Given the description of an element on the screen output the (x, y) to click on. 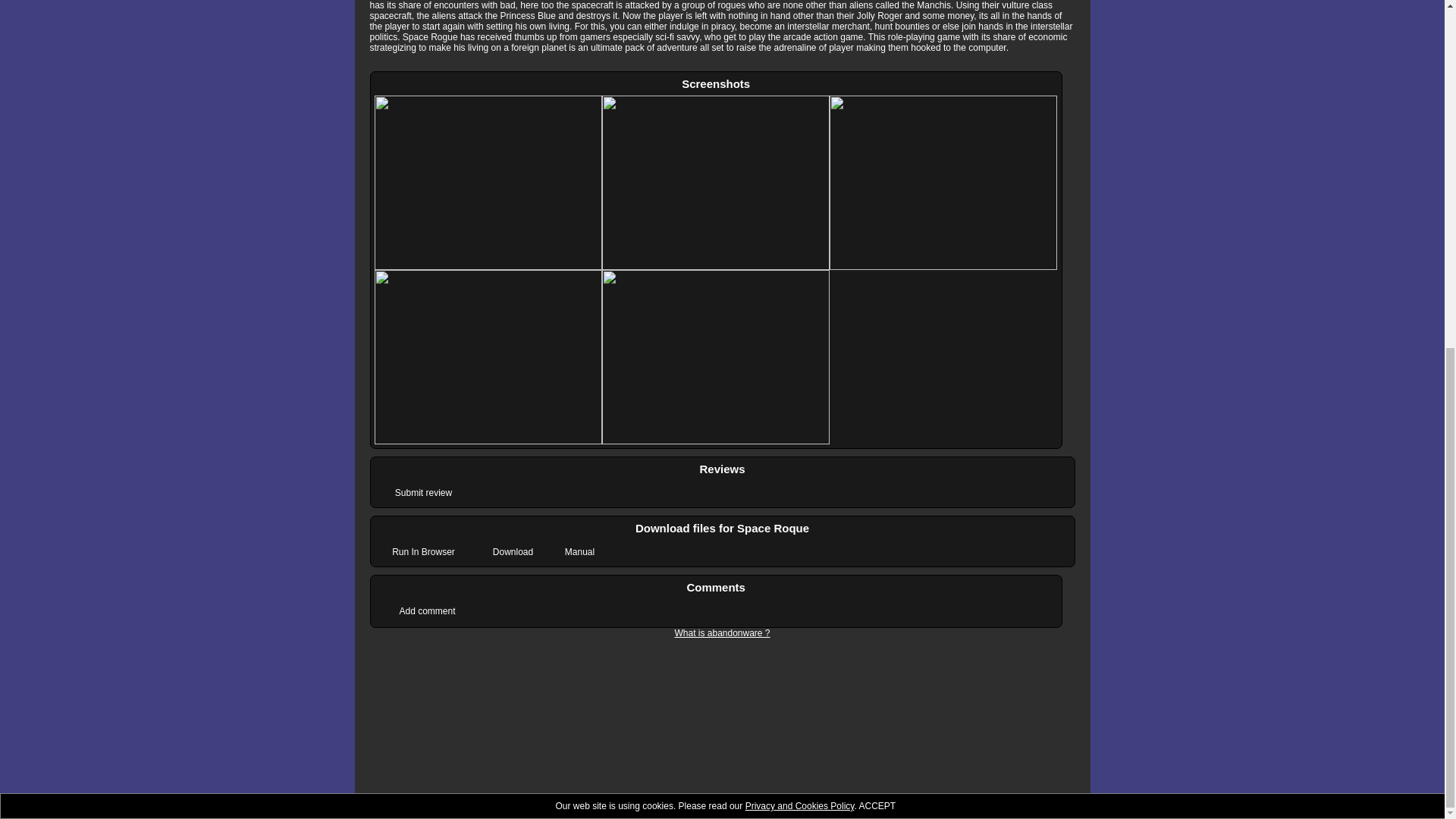
Privacy and Cookies Policy (799, 205)
Run In Browser (422, 551)
Download (513, 551)
Submit review (422, 492)
Add comment (427, 610)
What is abandonware ? (722, 633)
ACCEPT (877, 205)
Manual (579, 551)
